Given the description of an element on the screen output the (x, y) to click on. 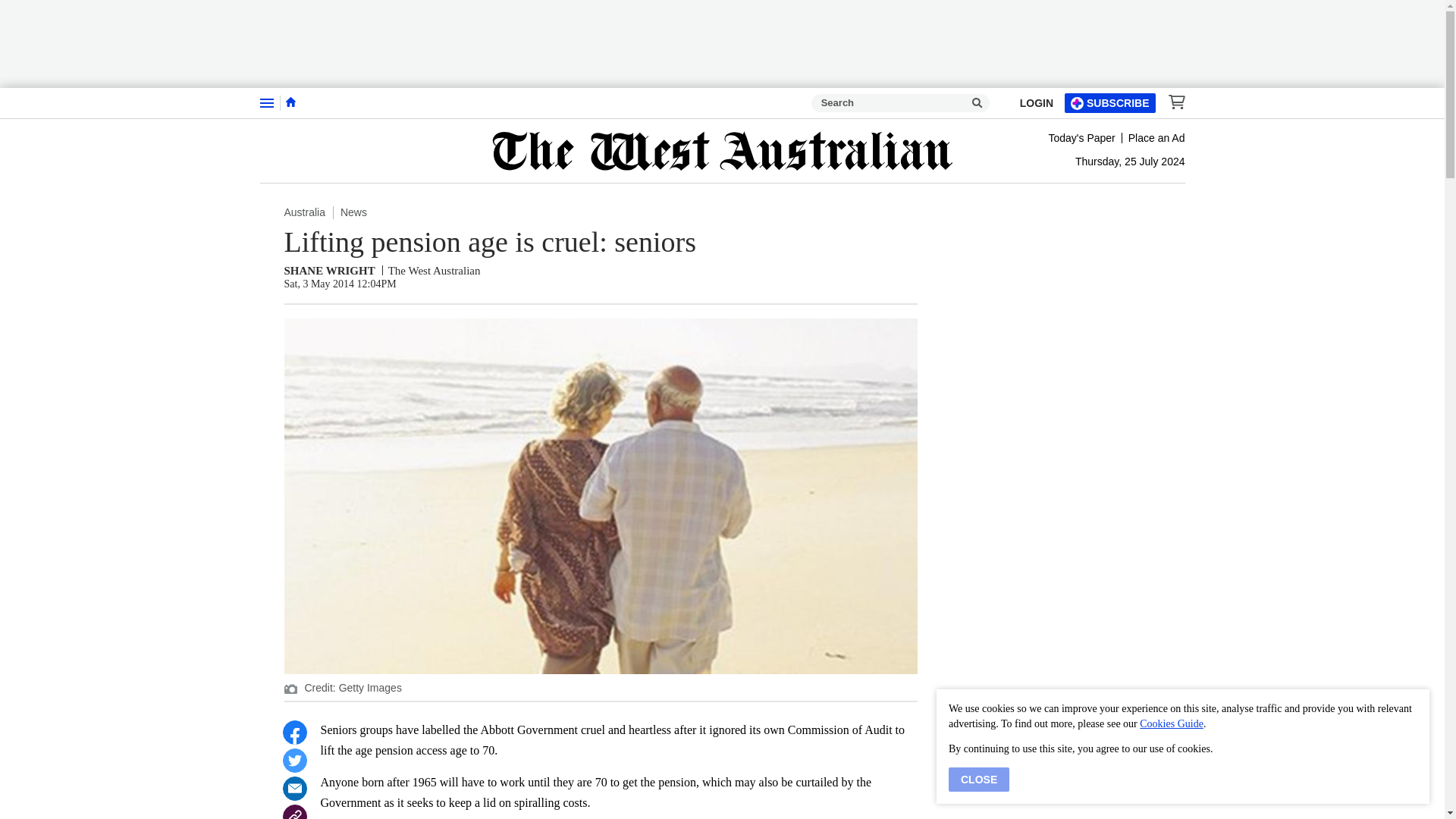
Home (290, 102)
Please enter a search term. (977, 102)
Empty Cart Icon (1172, 102)
